Given the description of an element on the screen output the (x, y) to click on. 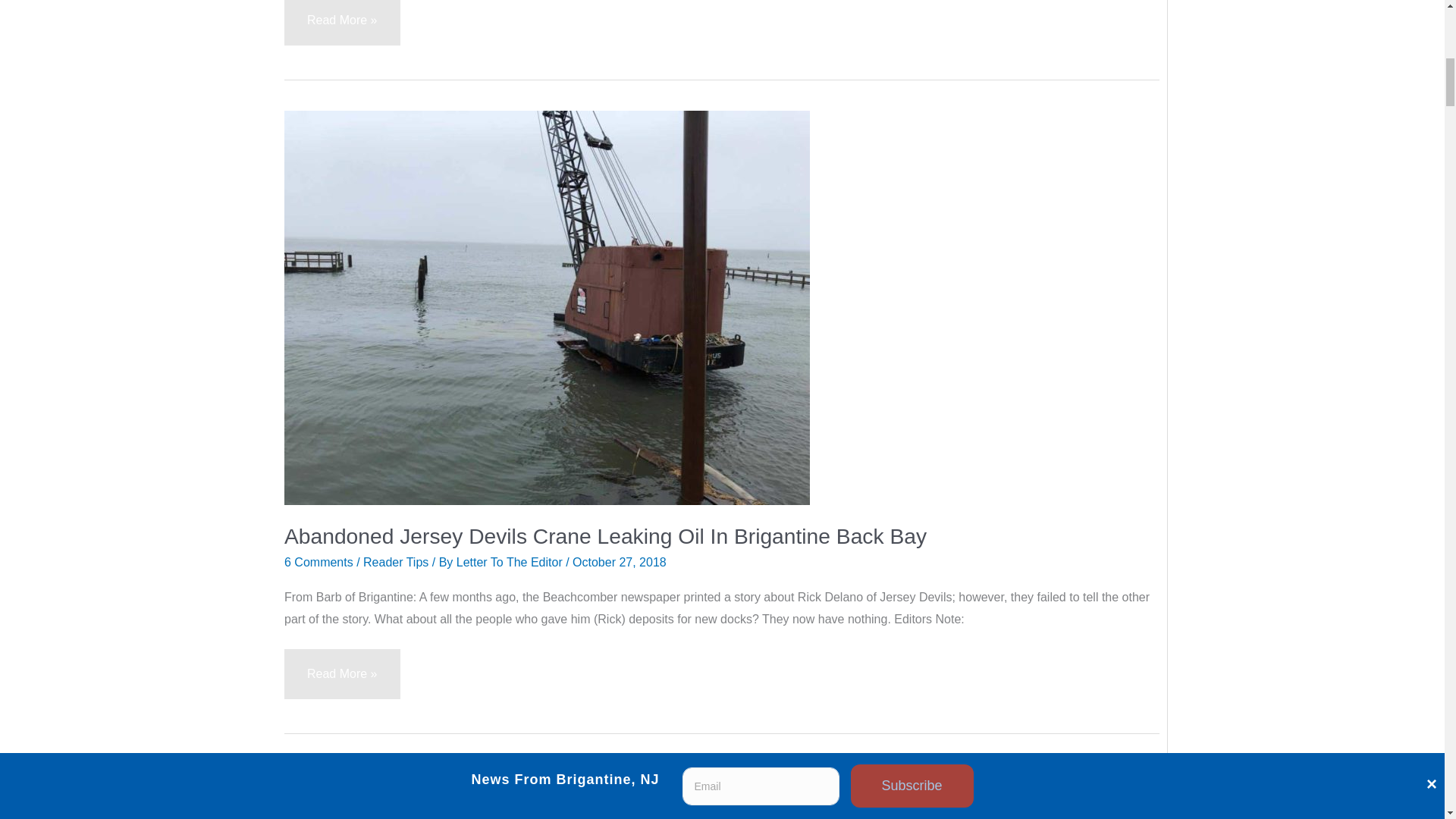
View all posts by Letter To The Editor (511, 562)
Reader Tips (395, 562)
6 Comments (318, 562)
Letter To The Editor (511, 562)
